Given the description of an element on the screen output the (x, y) to click on. 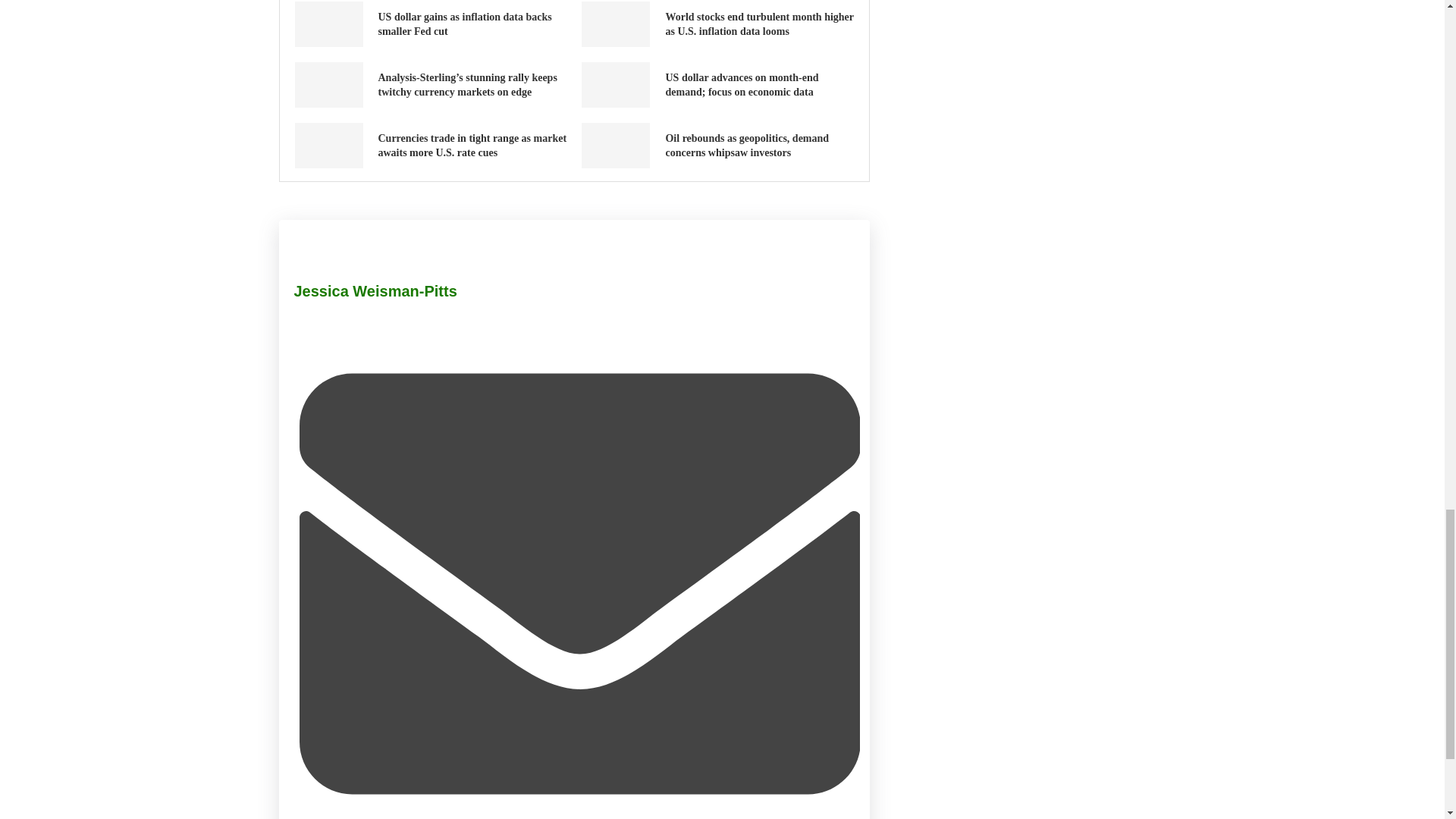
US dollar gains as inflation data backs smaller Fed cut (328, 23)
Jessica Weisman-Pitts (375, 290)
US dollar gains as inflation data backs smaller Fed cut (464, 24)
